Given the description of an element on the screen output the (x, y) to click on. 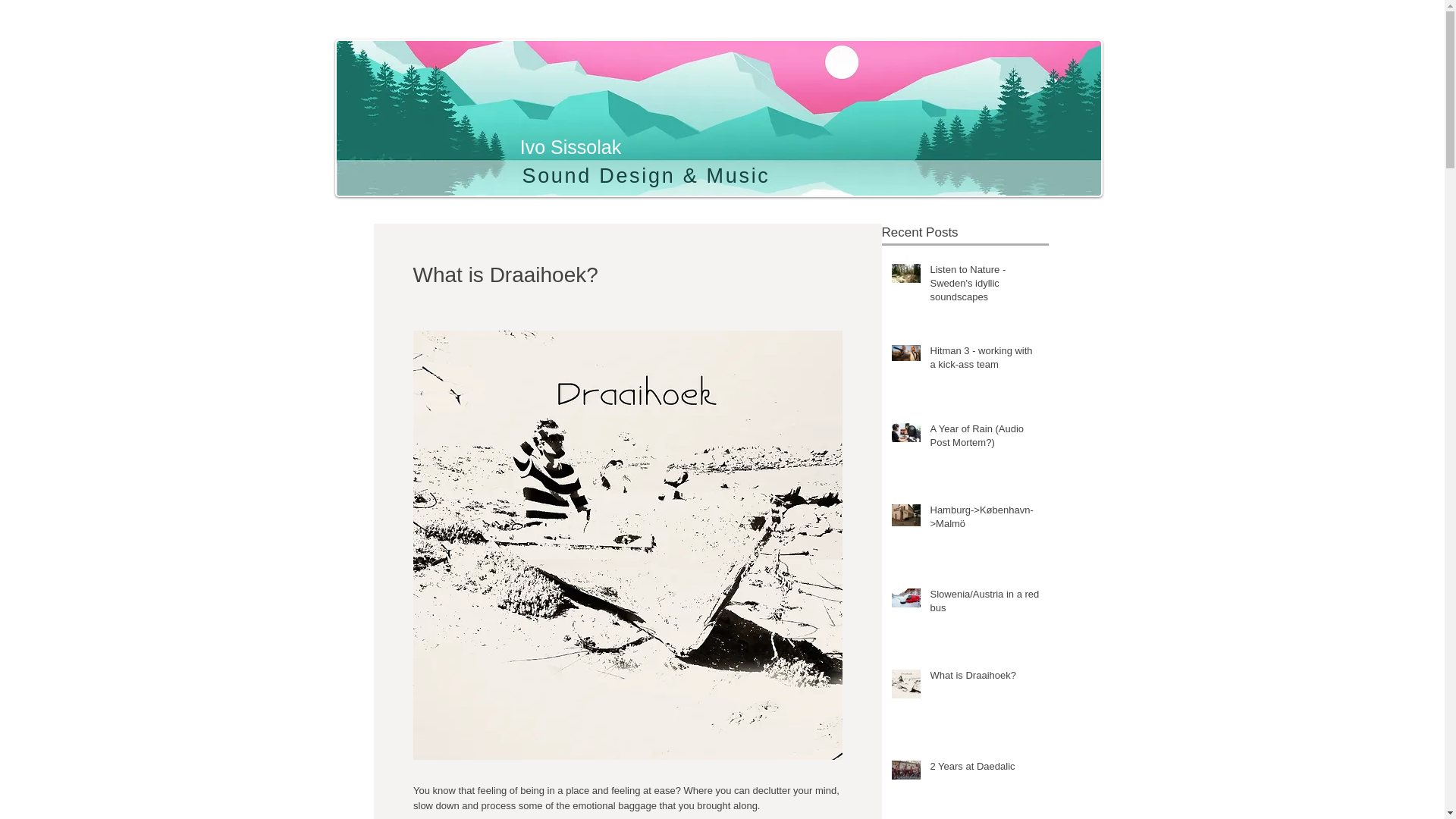
What is Draaihoek? (984, 678)
Listen to Nature - Sweden's idyllic soundscapes (984, 286)
Hitman 3 - working with a kick-ass team (984, 360)
2 Years at Daedalic (984, 769)
Ivo Sissolak (570, 147)
